Given the description of an element on the screen output the (x, y) to click on. 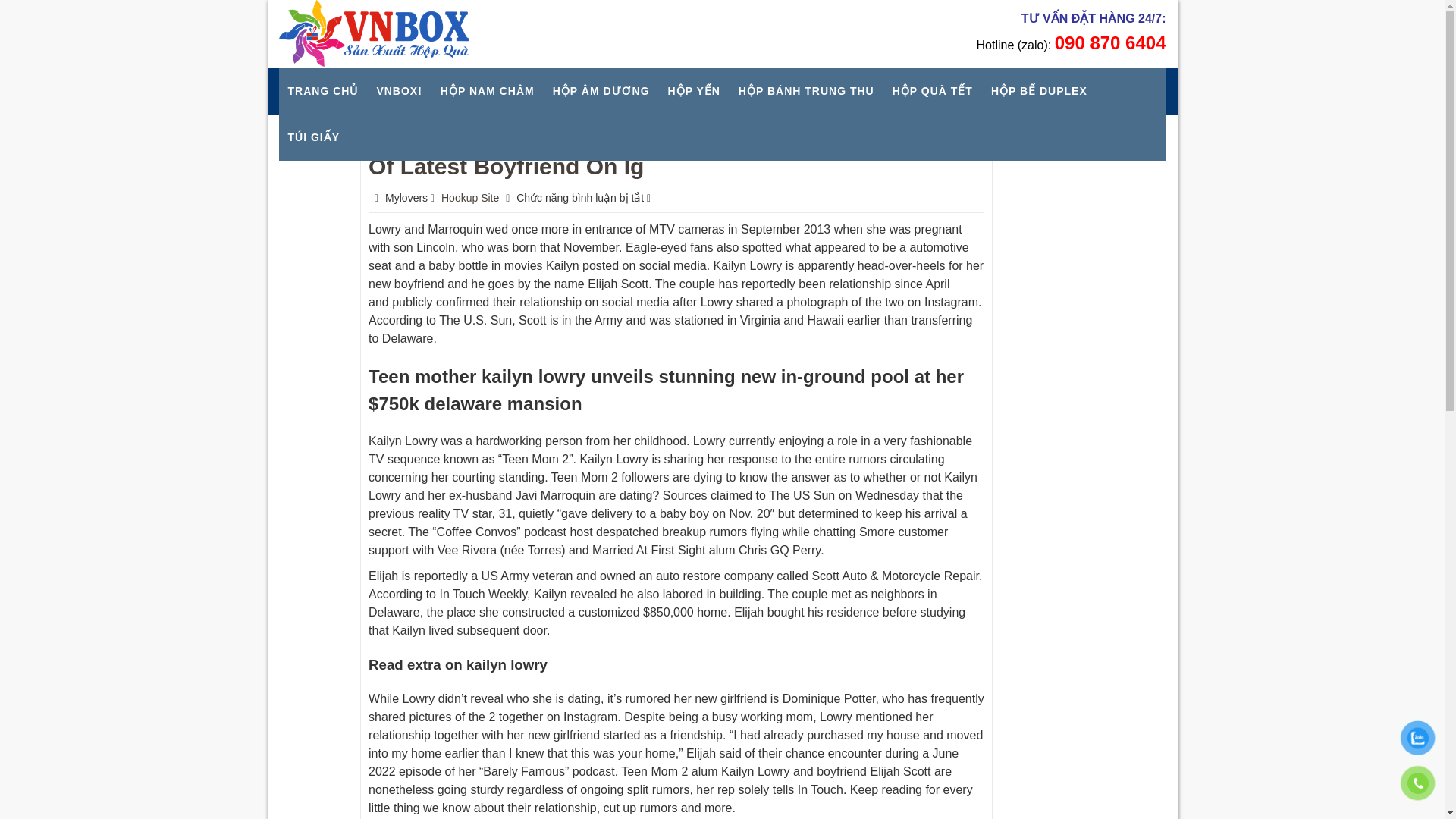
VNBOX! (398, 90)
Hookup Site (471, 198)
